Given the description of an element on the screen output the (x, y) to click on. 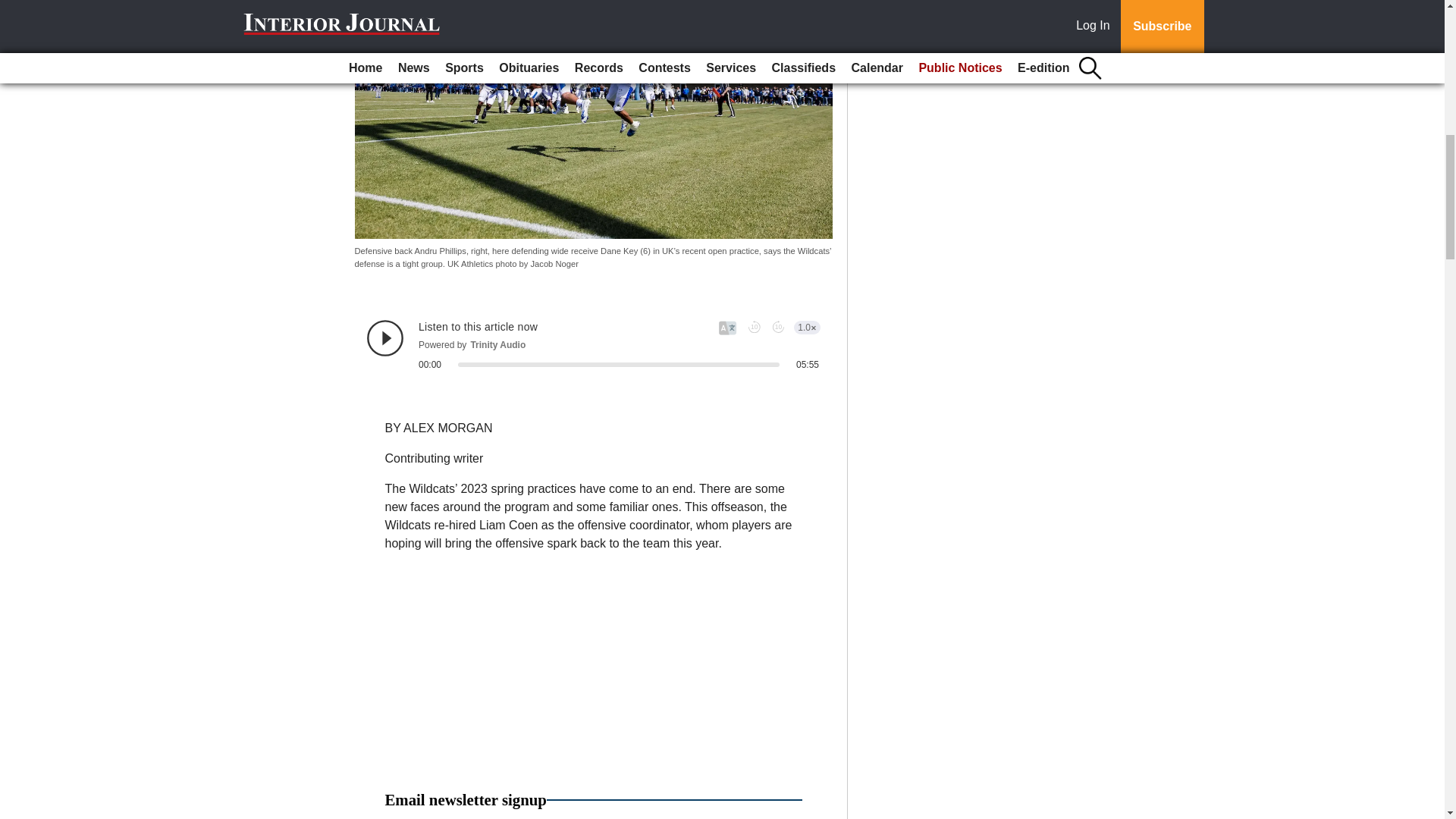
Trinity Audio Player (592, 344)
